Given the description of an element on the screen output the (x, y) to click on. 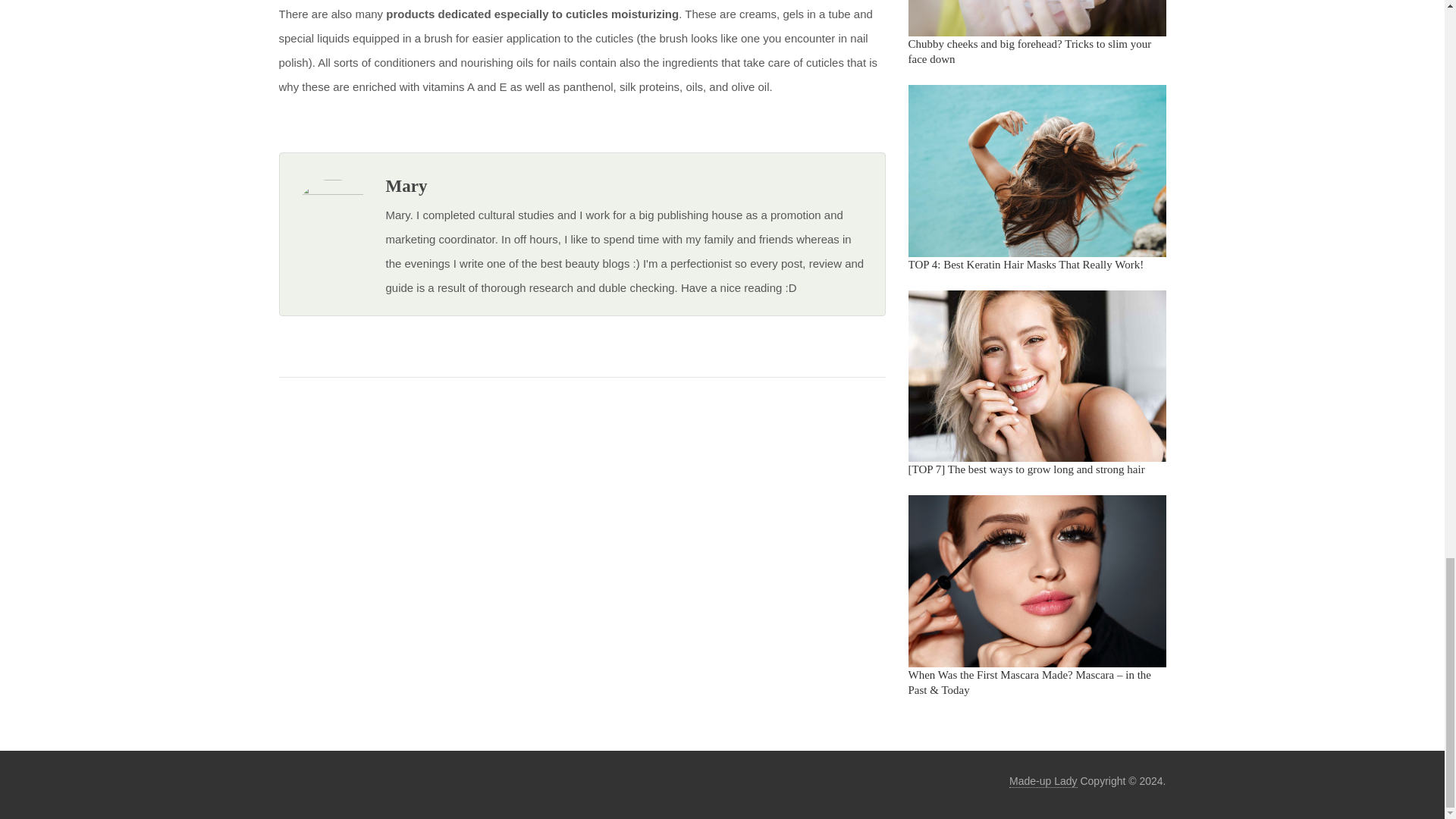
Made-up Lady (1043, 780)
Mary (405, 185)
TOP 4: Best Keratin Hair Masks That Really Work! (1026, 264)
